Given the description of an element on the screen output the (x, y) to click on. 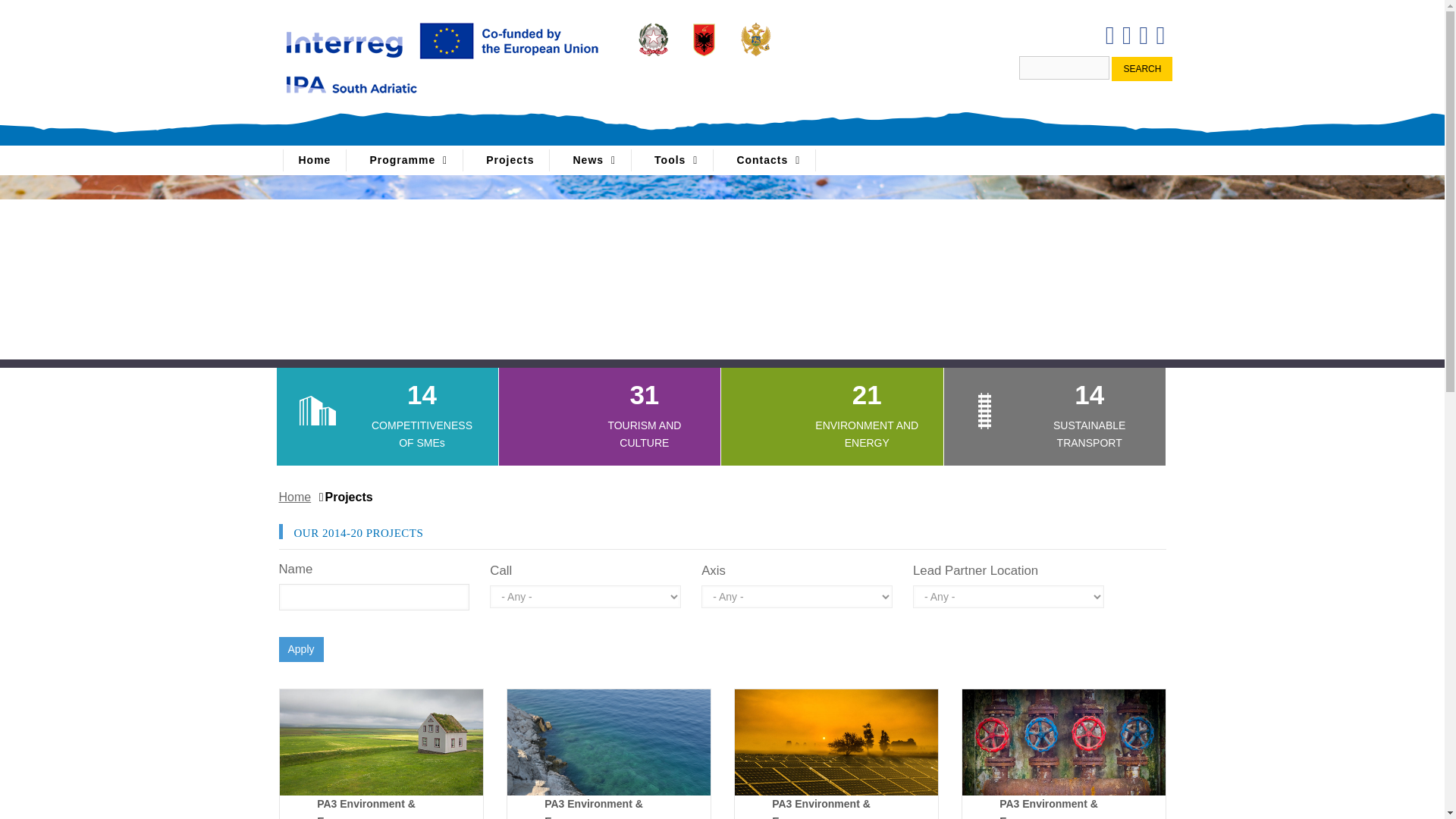
Apply (301, 649)
Apply (301, 649)
Symbol that indicates Italy as a partner in the program (652, 39)
Protection coastal environment and water landscapes (608, 742)
Search (1142, 68)
Tools (676, 160)
Programme (408, 160)
Home (314, 160)
Integrated Water Management System in crossborder area (1062, 742)
Search (1142, 68)
